Given the description of an element on the screen output the (x, y) to click on. 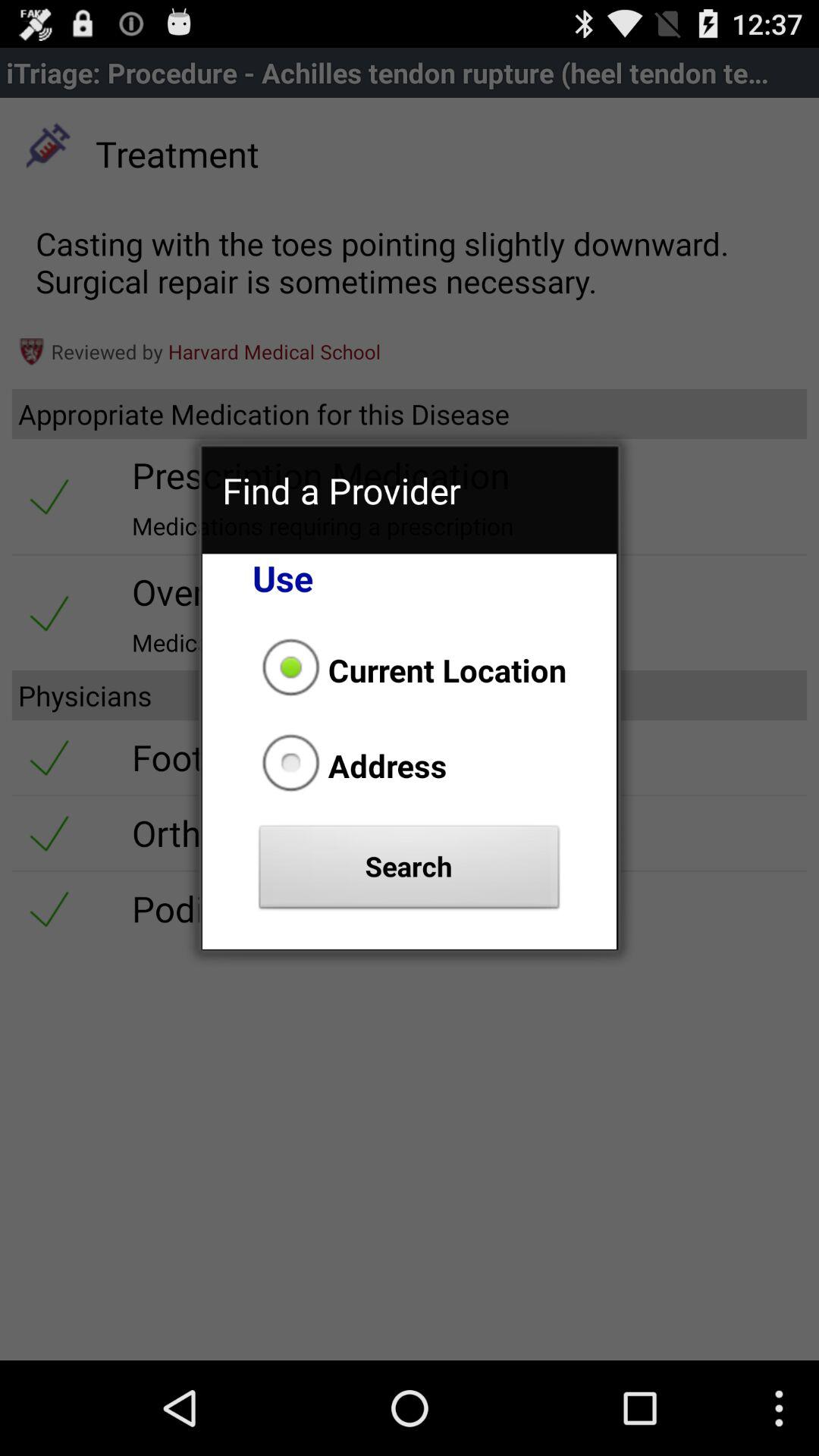
jump to address item (349, 765)
